Given the description of an element on the screen output the (x, y) to click on. 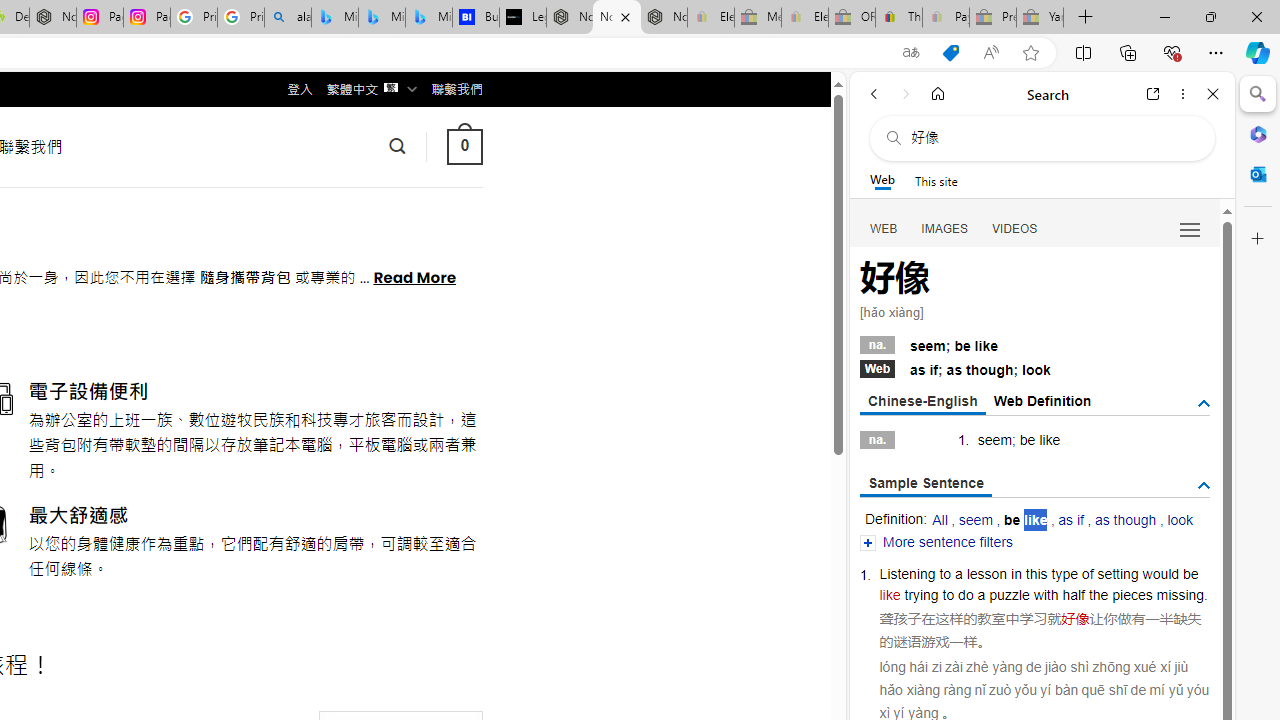
Show translate options (910, 53)
All (939, 520)
AutomationID: tgdef (1203, 404)
Read More (414, 276)
